Given the description of an element on the screen output the (x, y) to click on. 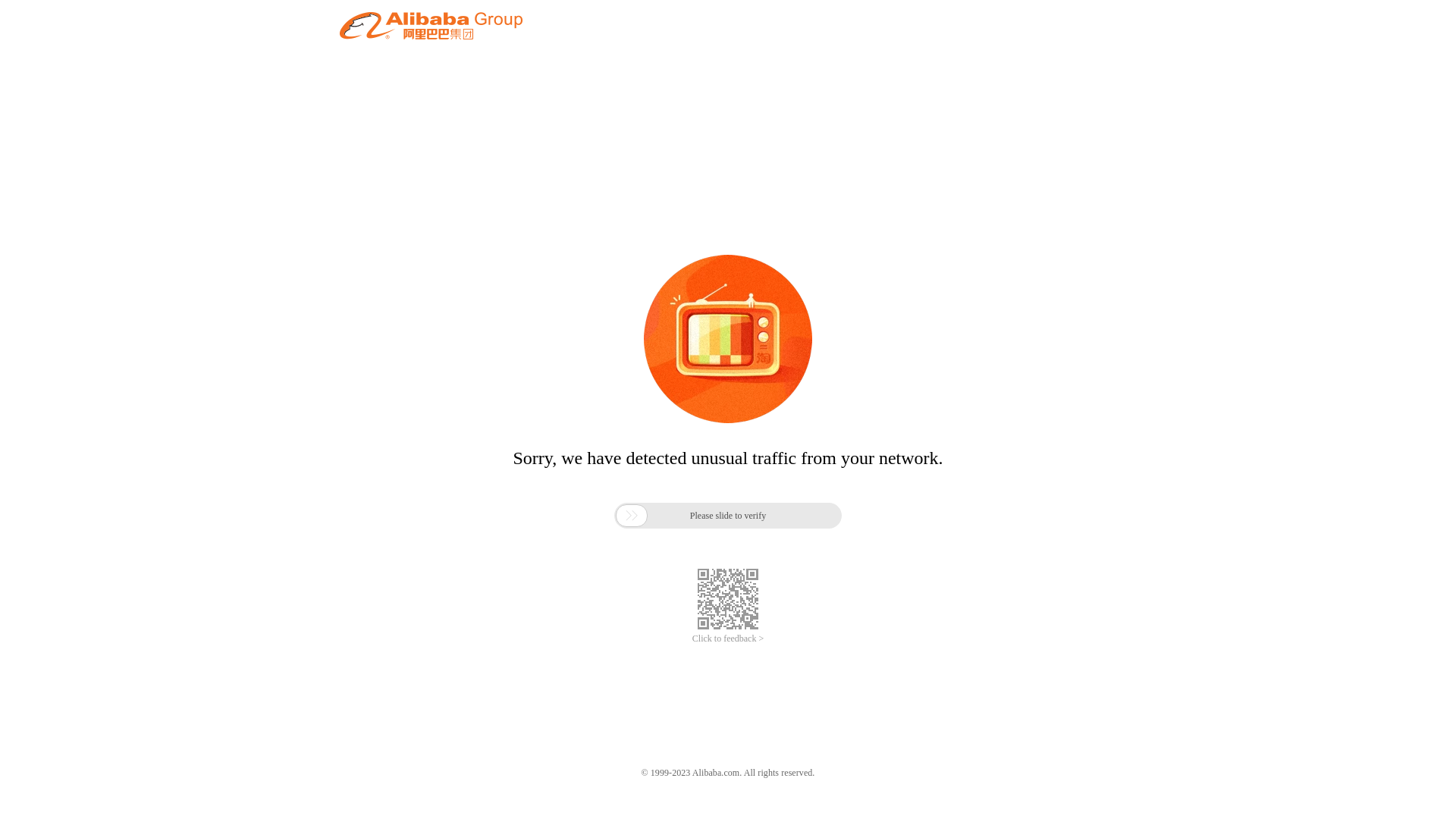
Click to feedback > Element type: text (727, 638)
